Given the description of an element on the screen output the (x, y) to click on. 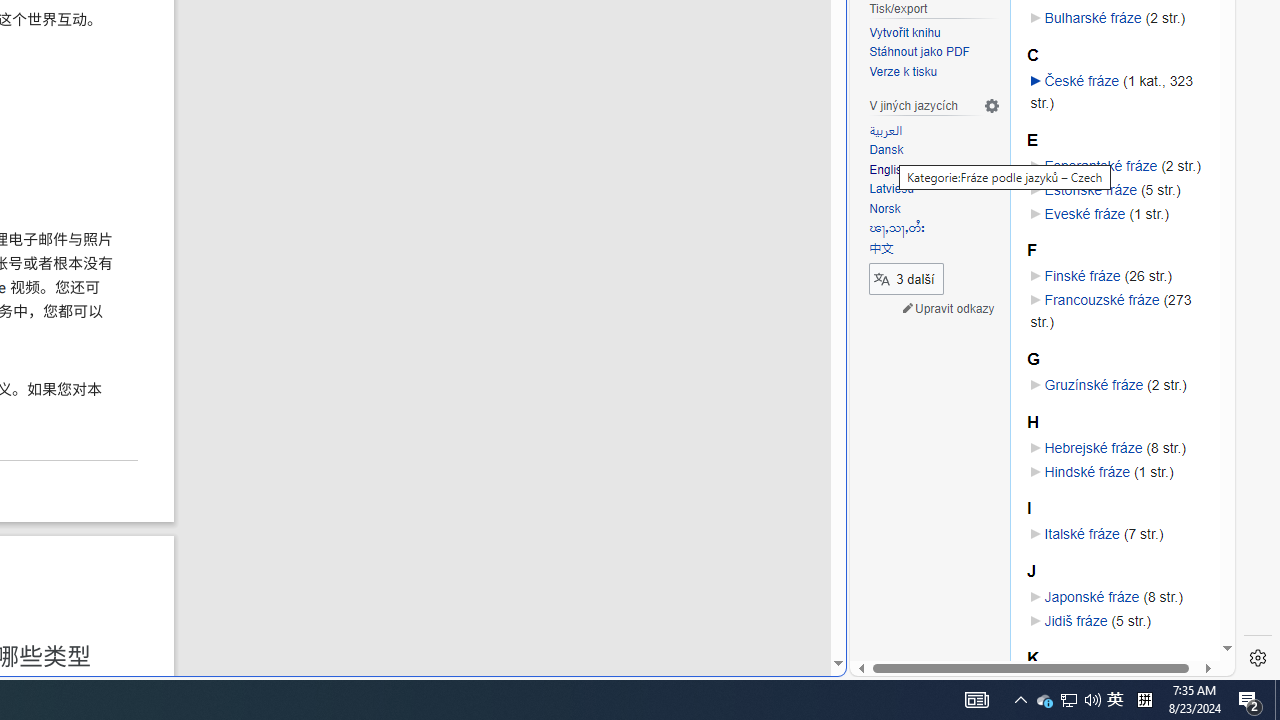
Verze k tisku (934, 71)
Dansk (886, 150)
